Given the description of an element on the screen output the (x, y) to click on. 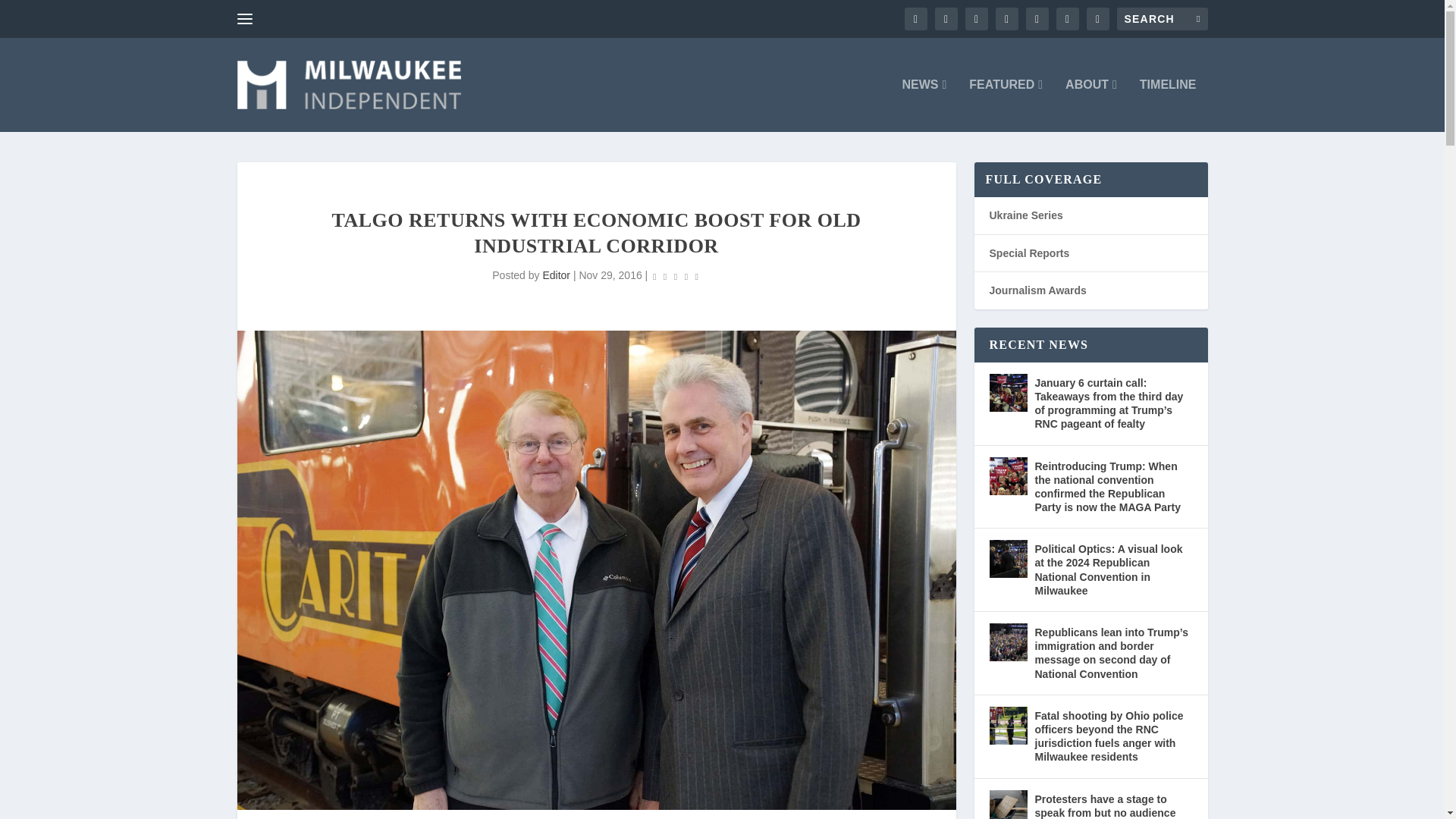
Search for: (1161, 18)
Rating: 0.00 (675, 275)
TIMELINE (1168, 104)
Posts by Editor (555, 275)
FEATURED (1005, 104)
ABOUT (1090, 104)
